Given the description of an element on the screen output the (x, y) to click on. 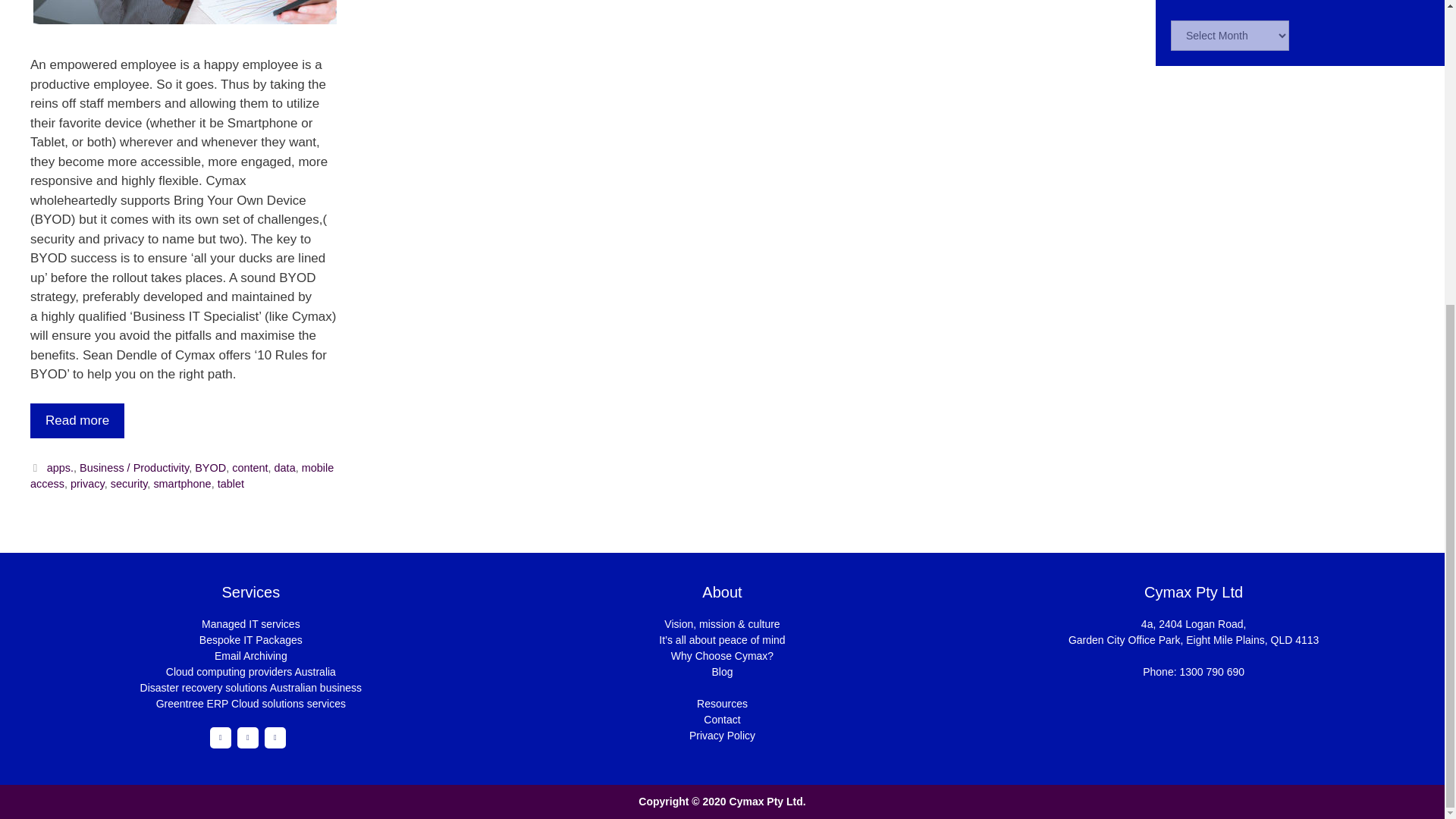
LinkedIn (248, 737)
Newsletter (274, 737)
Facebook (220, 737)
